Given the description of an element on the screen output the (x, y) to click on. 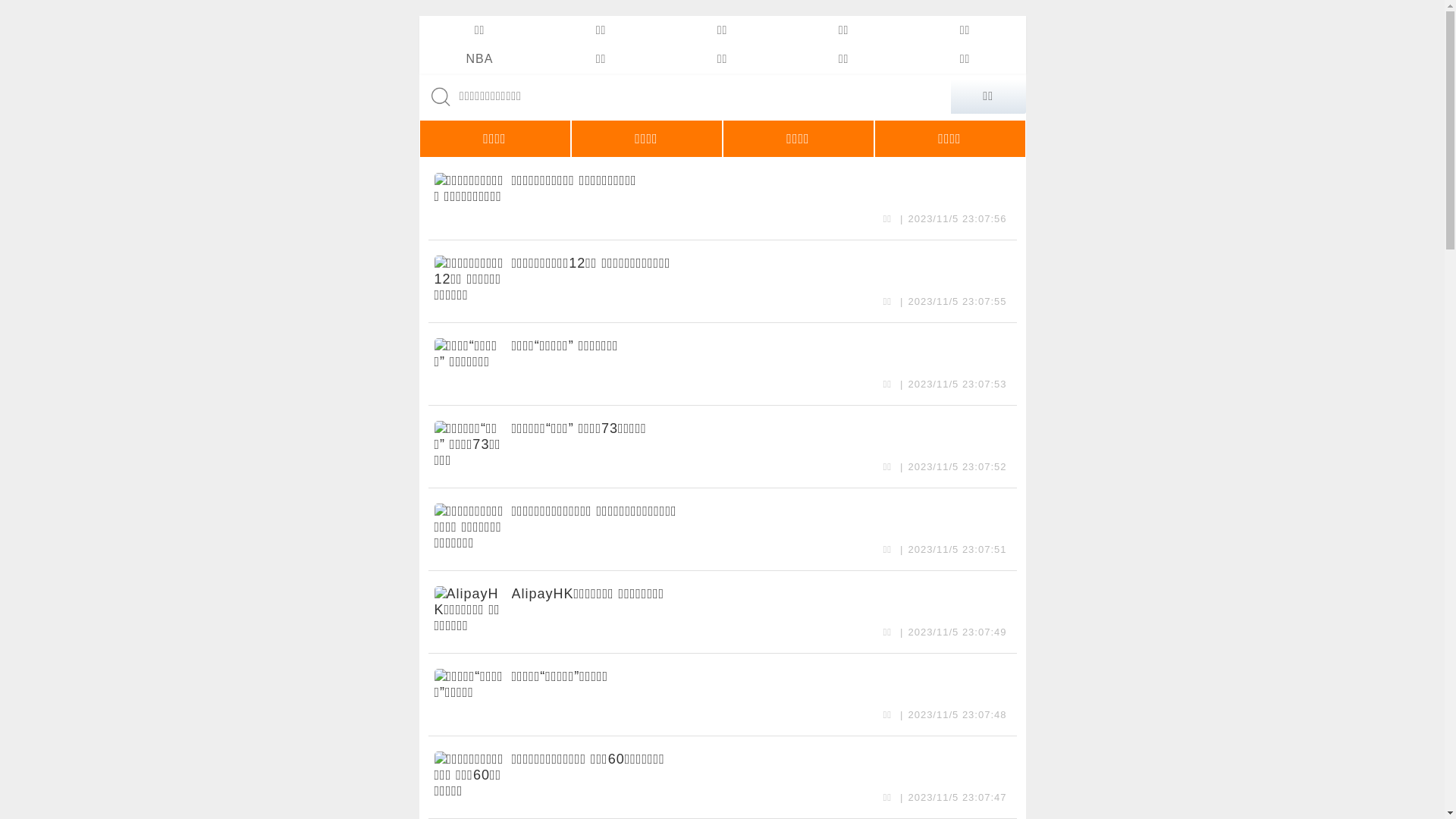
NBA Element type: text (478, 58)
